Given the description of an element on the screen output the (x, y) to click on. 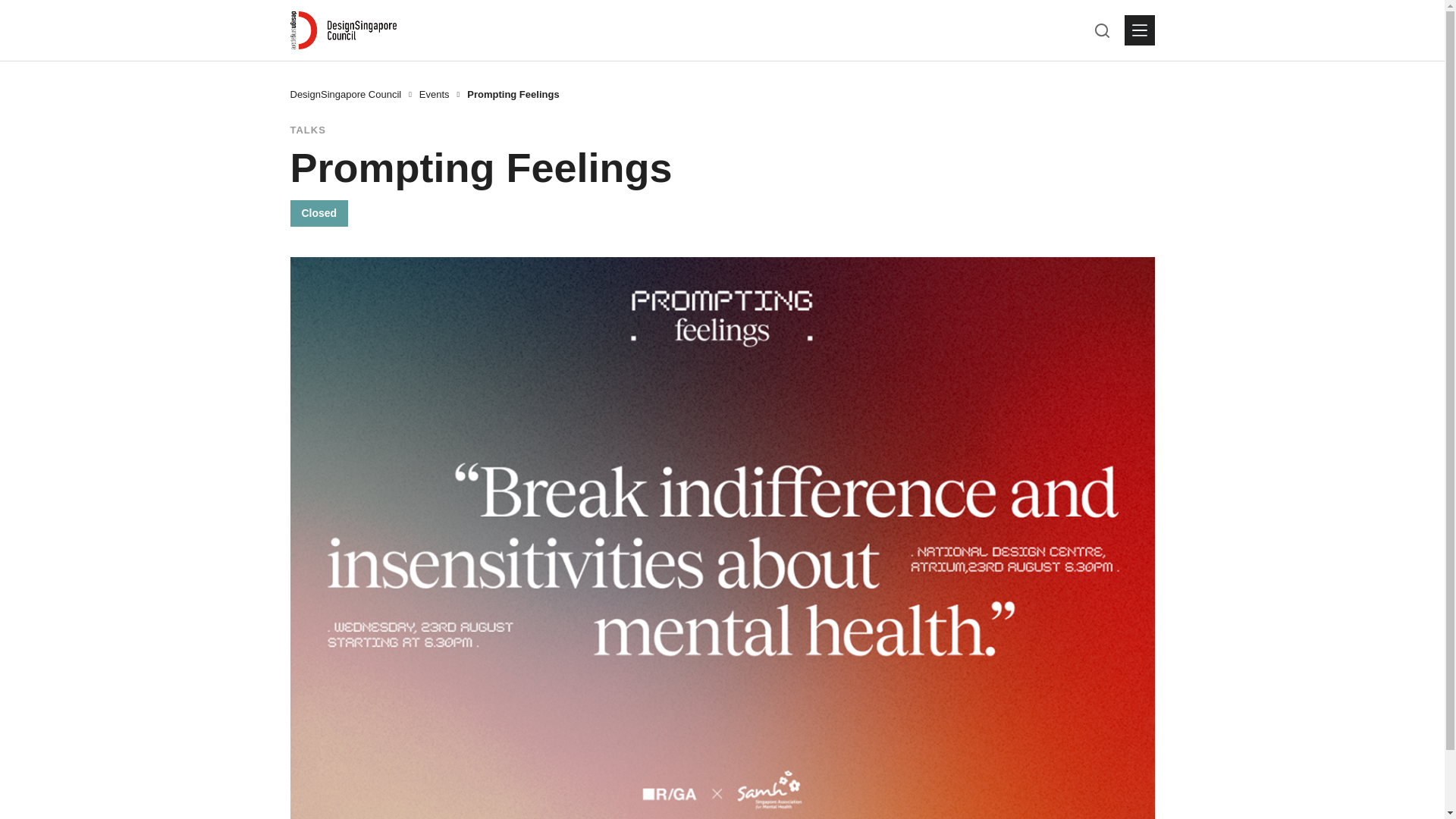
Skip to content (15, 7)
